Given the description of an element on the screen output the (x, y) to click on. 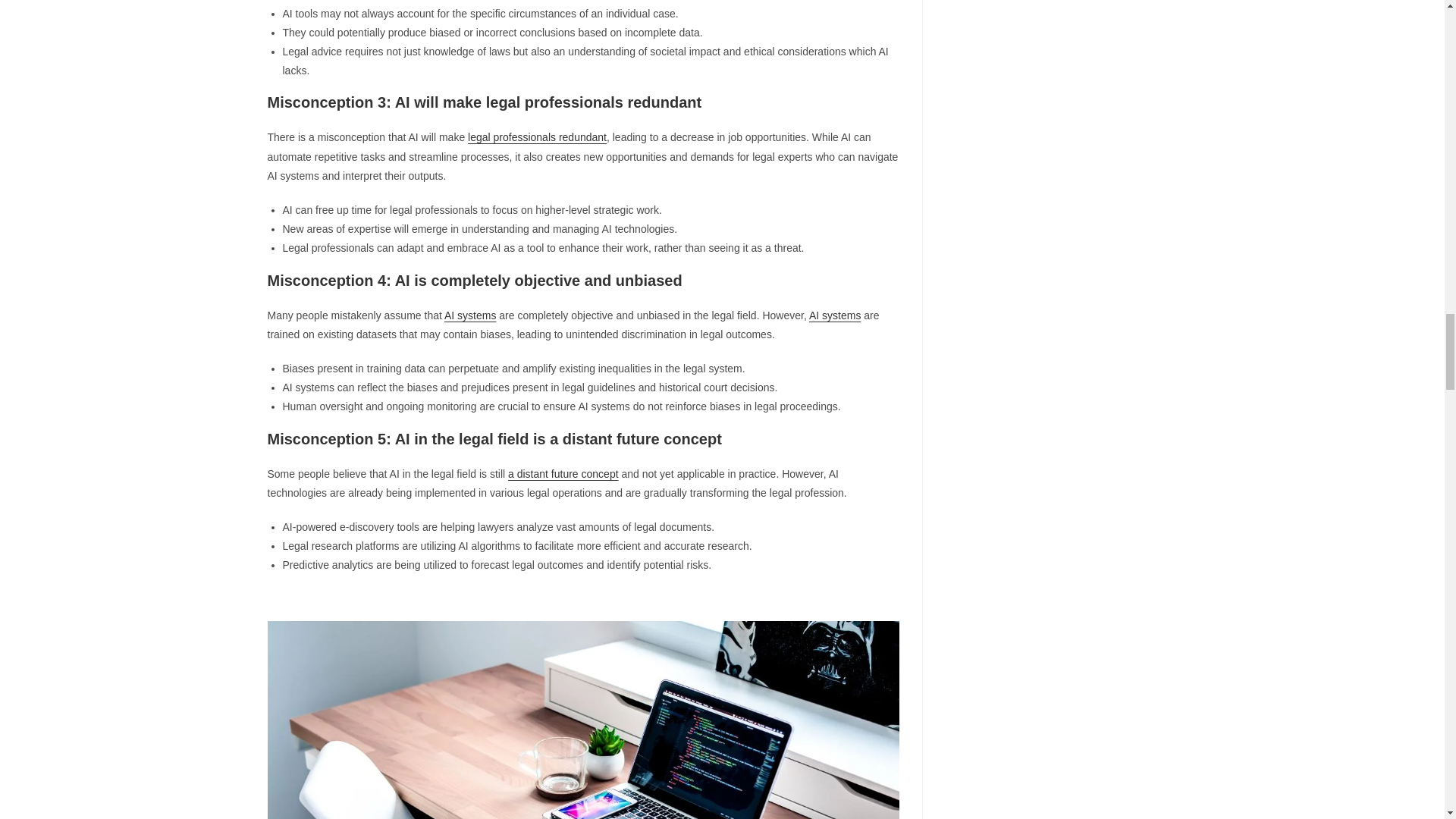
AI systems (834, 315)
Artificial Intelligence Legal. (582, 719)
legal professionals redundant (537, 137)
a distant future concept (563, 473)
AI systems (470, 315)
